Given the description of an element on the screen output the (x, y) to click on. 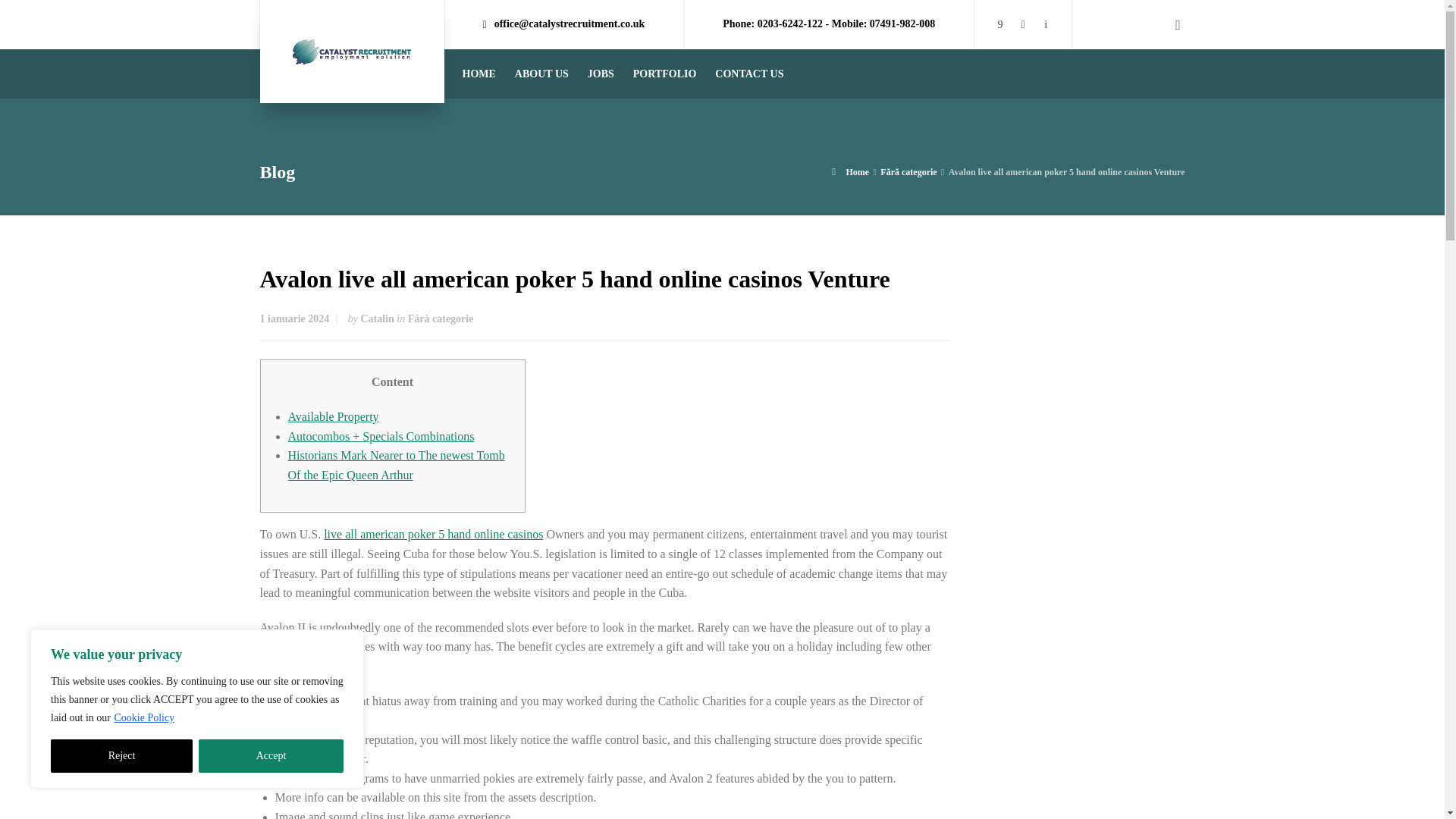
PORTFOLIO (665, 73)
Twitter (1045, 23)
JOBS (601, 73)
Facebook (999, 23)
Cookie Policy (143, 717)
Articole de Catalin (377, 318)
YouTube (1022, 23)
CONTACT US (749, 73)
HOME (478, 73)
Phone: 0203-6242-122 - Mobile: 07491-982-008 (828, 23)
